Given the description of an element on the screen output the (x, y) to click on. 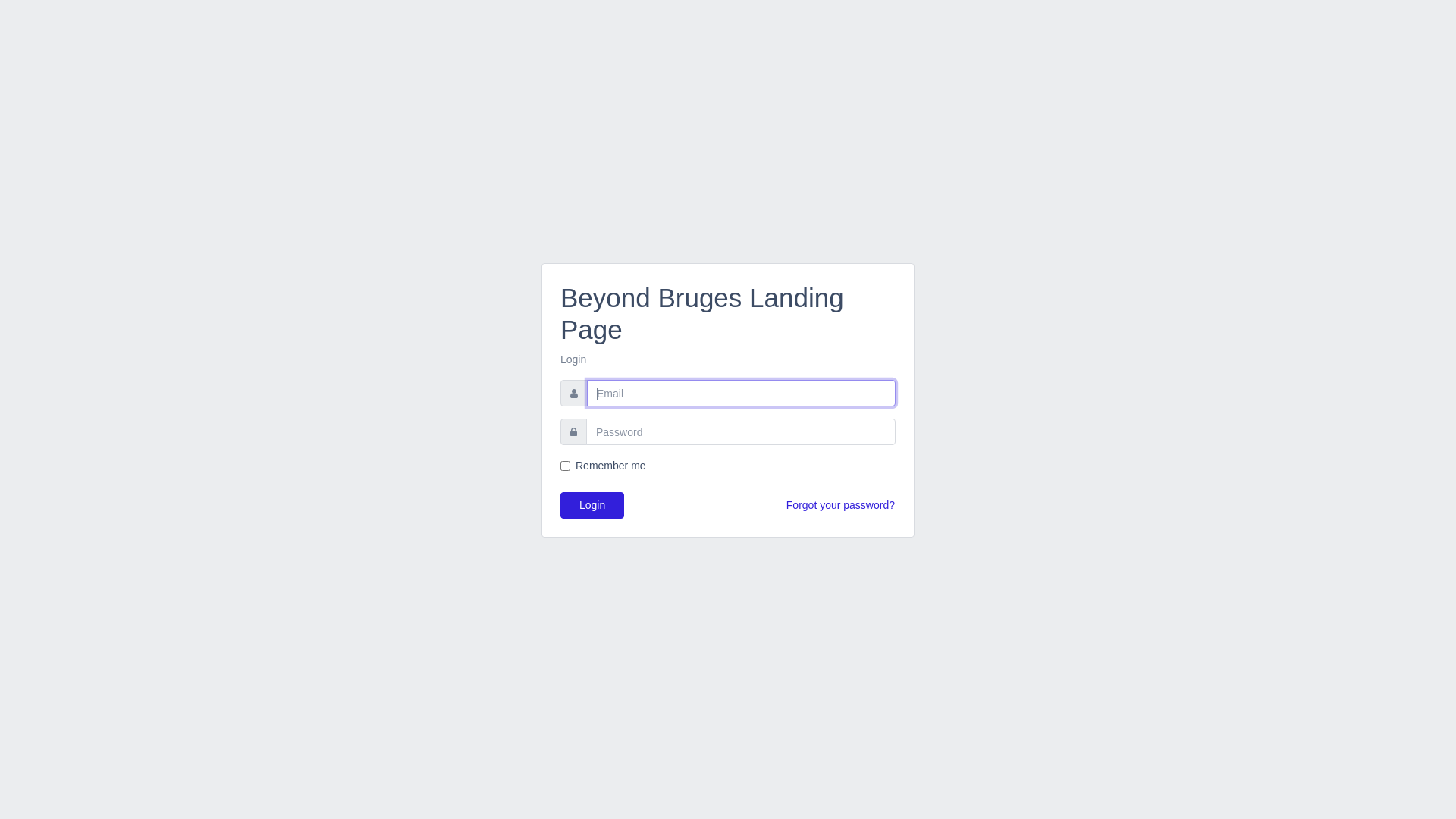
Login Element type: text (592, 505)
Forgot your password? Element type: text (840, 505)
